Given the description of an element on the screen output the (x, y) to click on. 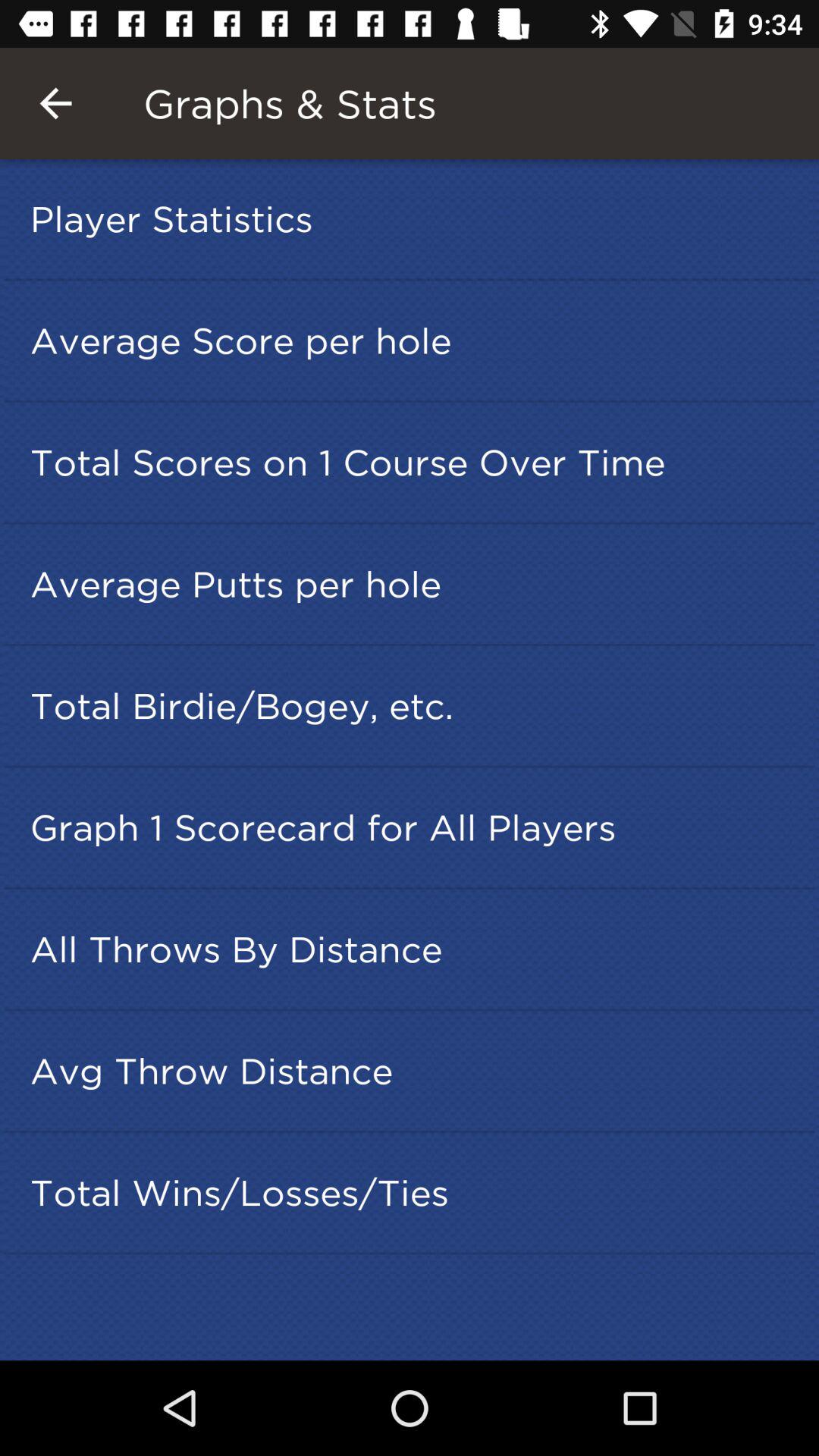
scroll to avg throw distance icon (414, 1070)
